Given the description of an element on the screen output the (x, y) to click on. 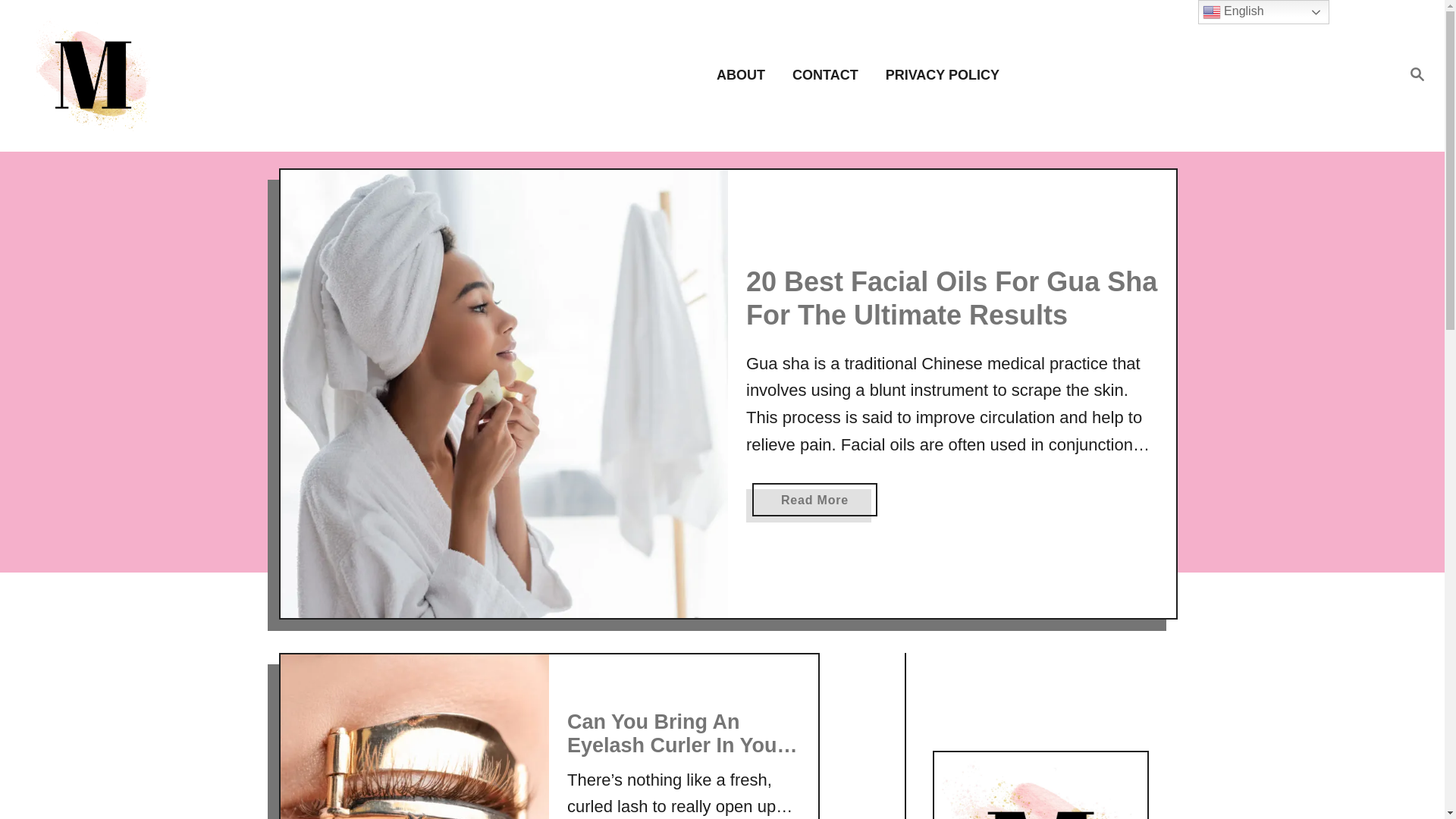
Makeup Muddle (204, 74)
Magnifying Glass (1416, 74)
Can You Bring An Eyelash Curler In Your Carry On? (415, 736)
ABOUT (745, 75)
20 Best Facial Oils For Gua Sha For The Ultimate Results (951, 298)
Can You Bring An Eyelash Curler In Your Carry On? (682, 744)
CONTACT (829, 75)
PRIVACY POLICY (937, 75)
